Given the description of an element on the screen output the (x, y) to click on. 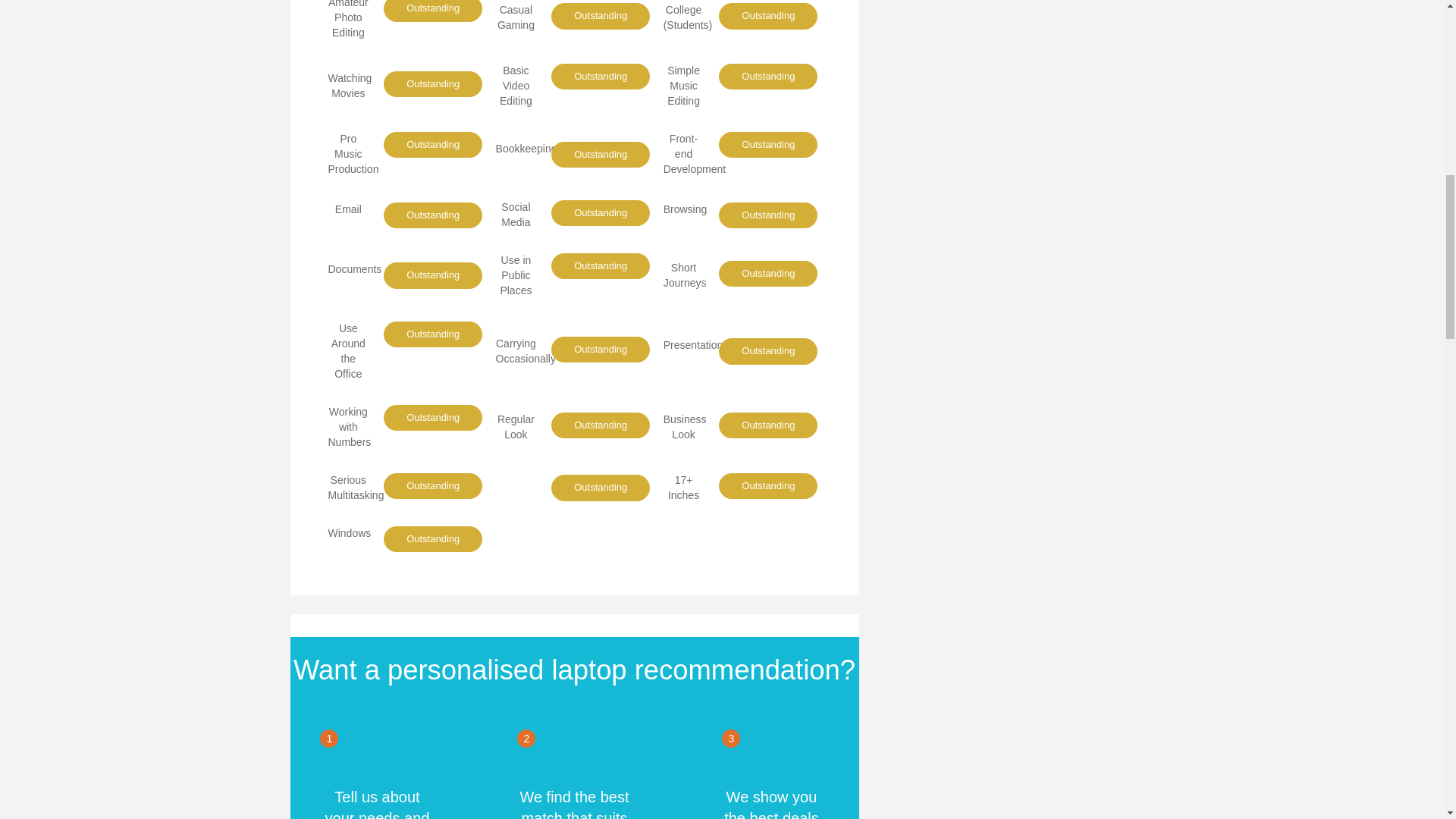
Bookkeeping (526, 148)
Pro Music Production (352, 153)
Business Look (684, 426)
